Given the description of an element on the screen output the (x, y) to click on. 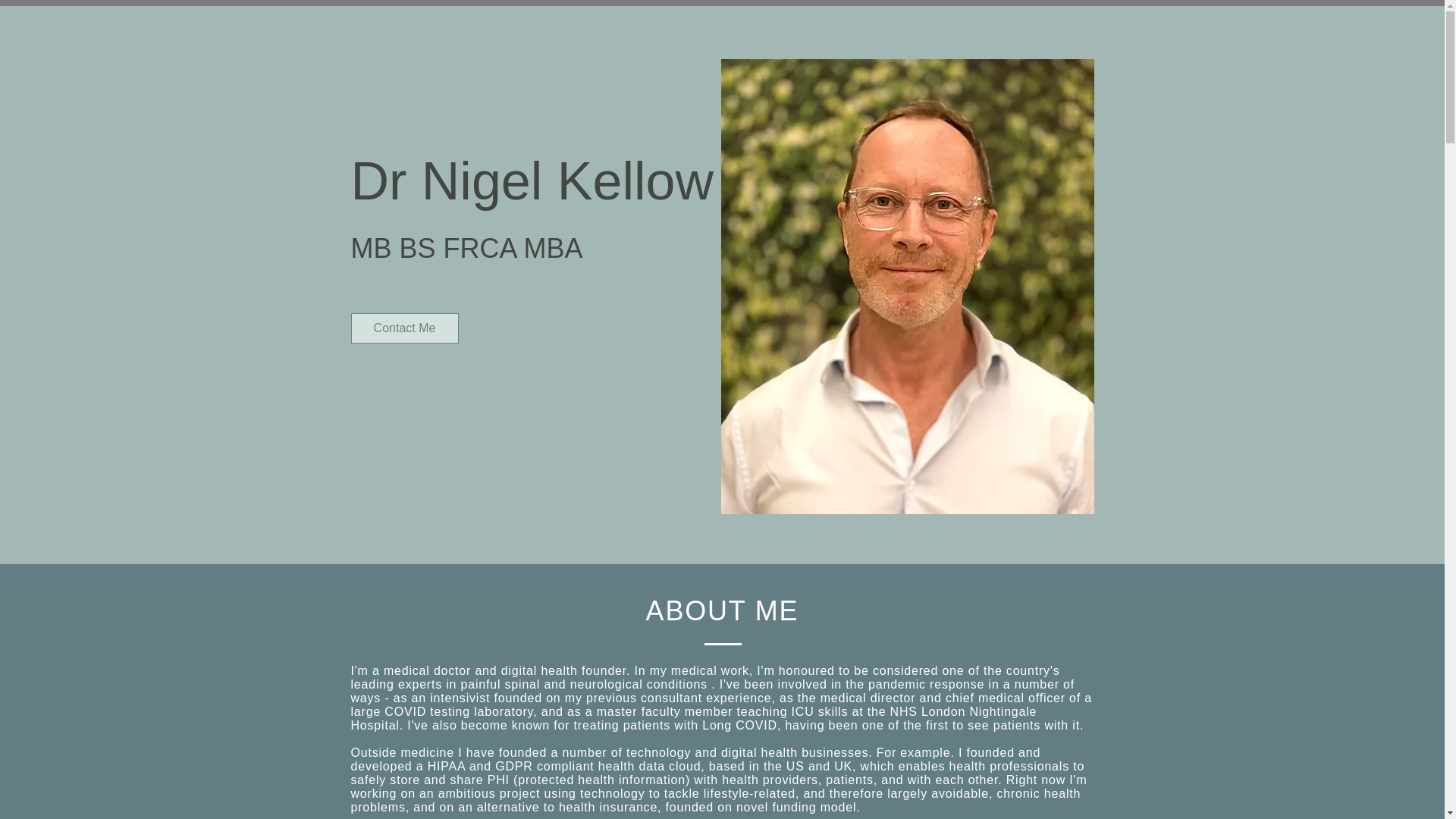
Contact Me (404, 327)
